Given the description of an element on the screen output the (x, y) to click on. 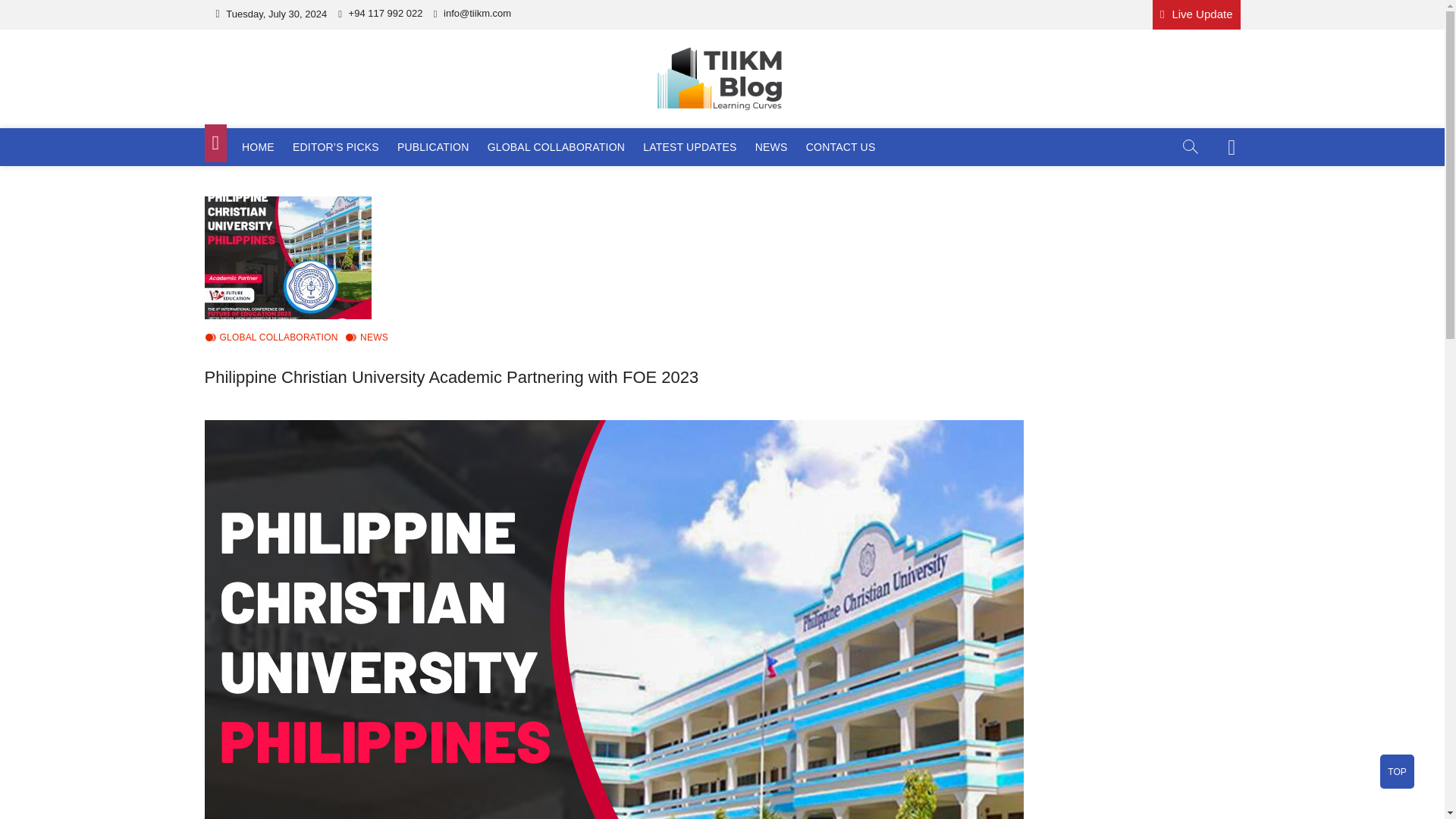
Mail Us (472, 12)
LATEST UPDATES (689, 146)
HOME (258, 146)
Live Update (1196, 14)
NEWS (771, 146)
TIIKM Blog (279, 129)
PUBLICATION (433, 146)
TIIKM Blog (279, 129)
CONTACT US (840, 146)
Call Us (379, 12)
